Given the description of an element on the screen output the (x, y) to click on. 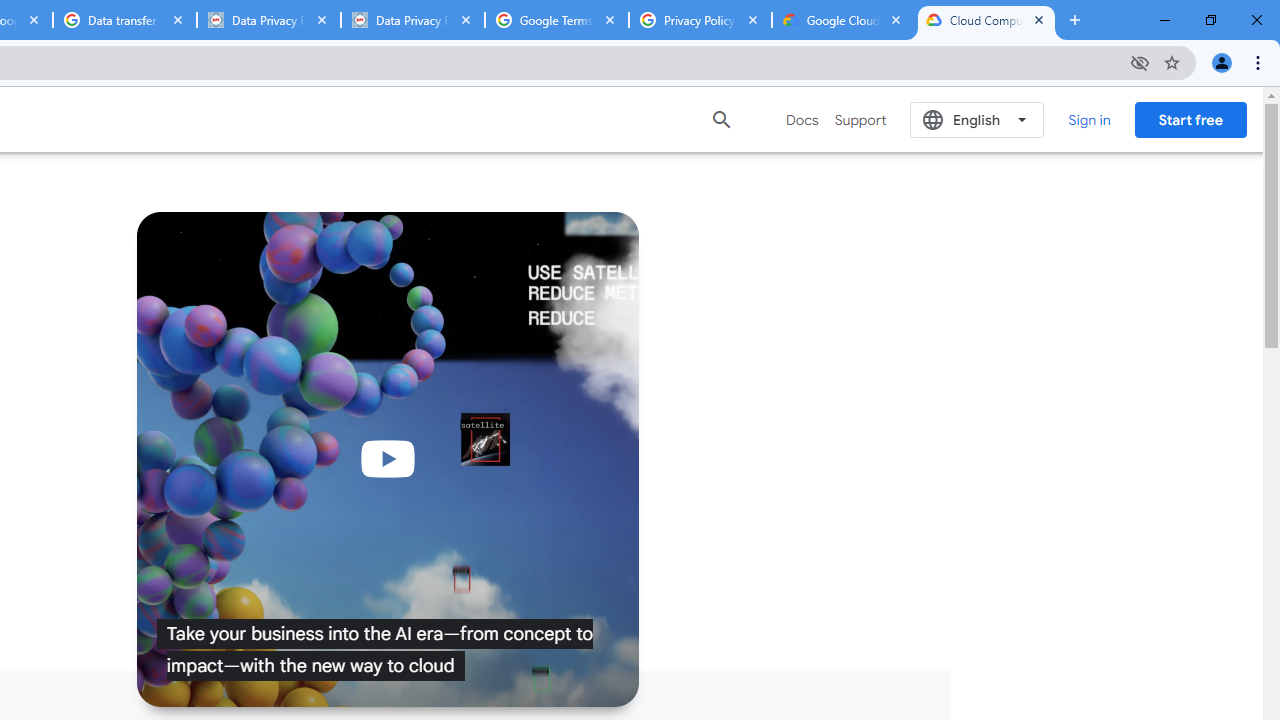
Docs (802, 119)
Data Privacy Framework (412, 20)
Start free (1190, 119)
Data Privacy Framework (268, 20)
